Given the description of an element on the screen output the (x, y) to click on. 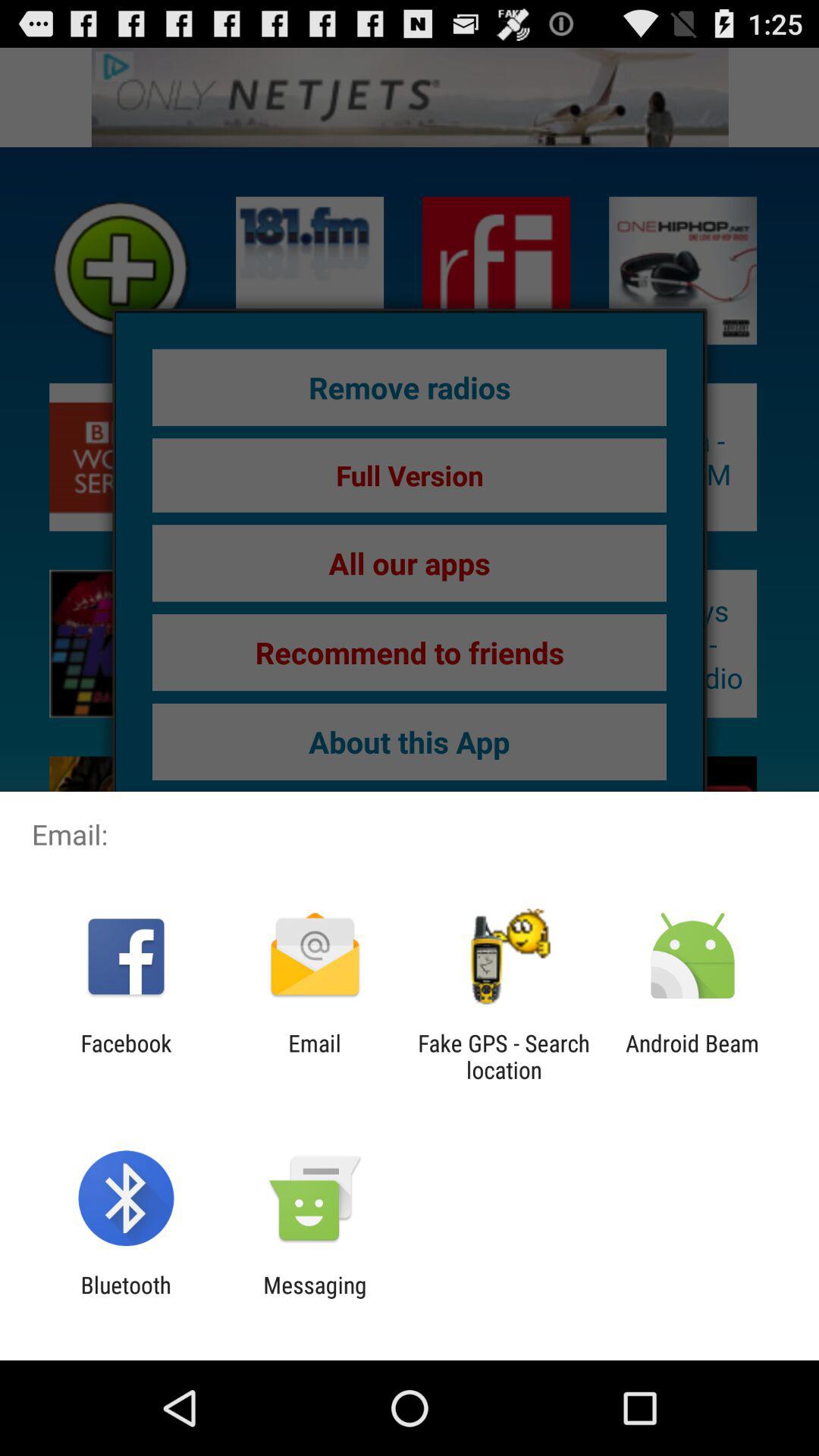
flip to the messaging app (314, 1298)
